Given the description of an element on the screen output the (x, y) to click on. 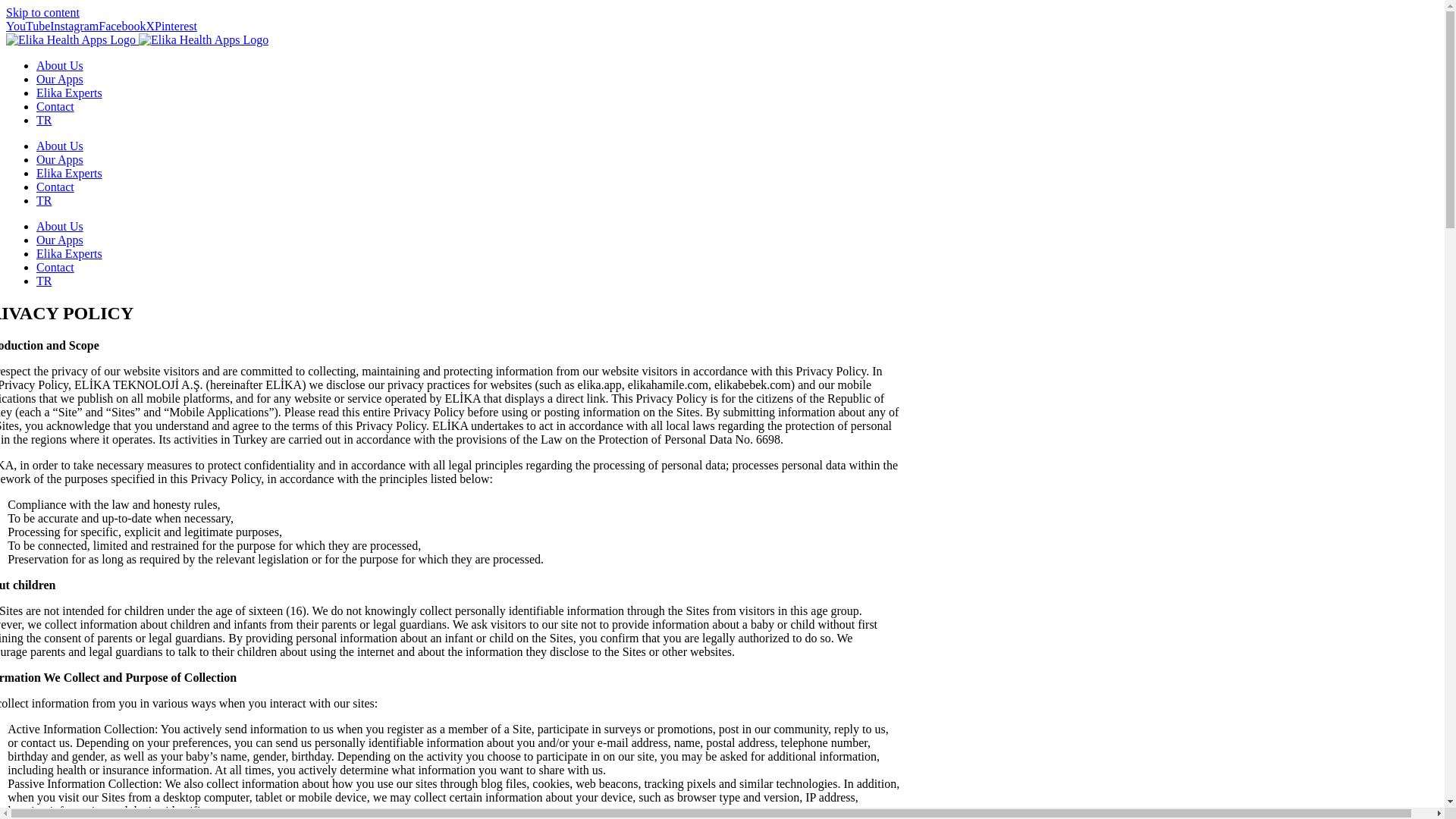
YouTube (27, 25)
About Us (59, 145)
Instagram (74, 25)
YouTube (27, 25)
Elika Experts (68, 253)
Our Apps (59, 159)
Elika Experts (68, 92)
About Us (59, 65)
Our Apps (59, 78)
Contact (55, 267)
